Given the description of an element on the screen output the (x, y) to click on. 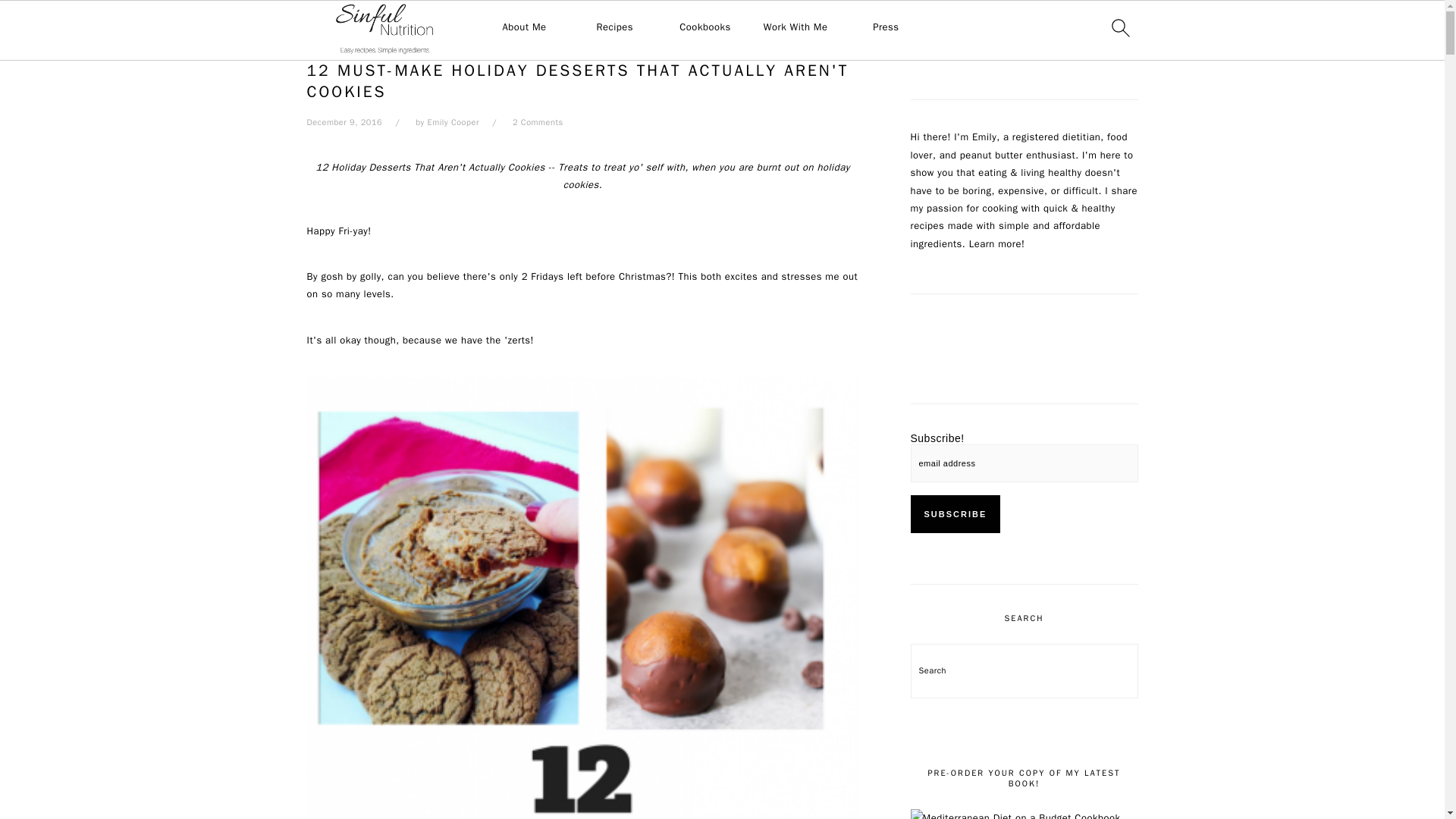
Food (354, 40)
Recipes (614, 27)
Press (885, 27)
About Me (524, 27)
Cookbooks (704, 27)
search icon (1119, 27)
Home (319, 40)
Work With Me (795, 27)
Subscribe (955, 514)
